Given the description of an element on the screen output the (x, y) to click on. 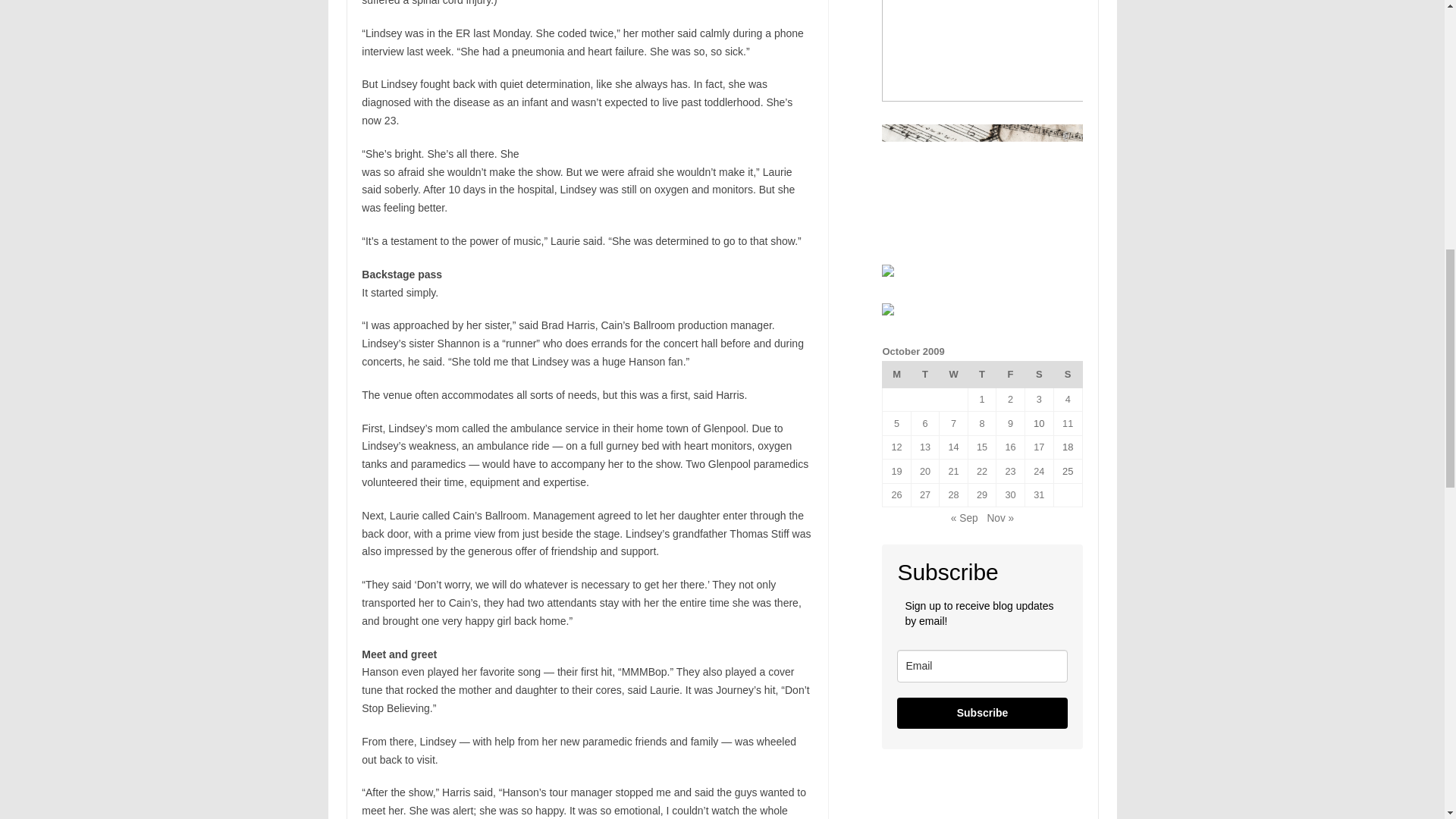
Monday (896, 374)
Thursday (981, 374)
Wednesday (953, 374)
Sunday (1066, 374)
Friday (1010, 374)
Saturday (1038, 374)
Tuesday (925, 374)
